Given the description of an element on the screen output the (x, y) to click on. 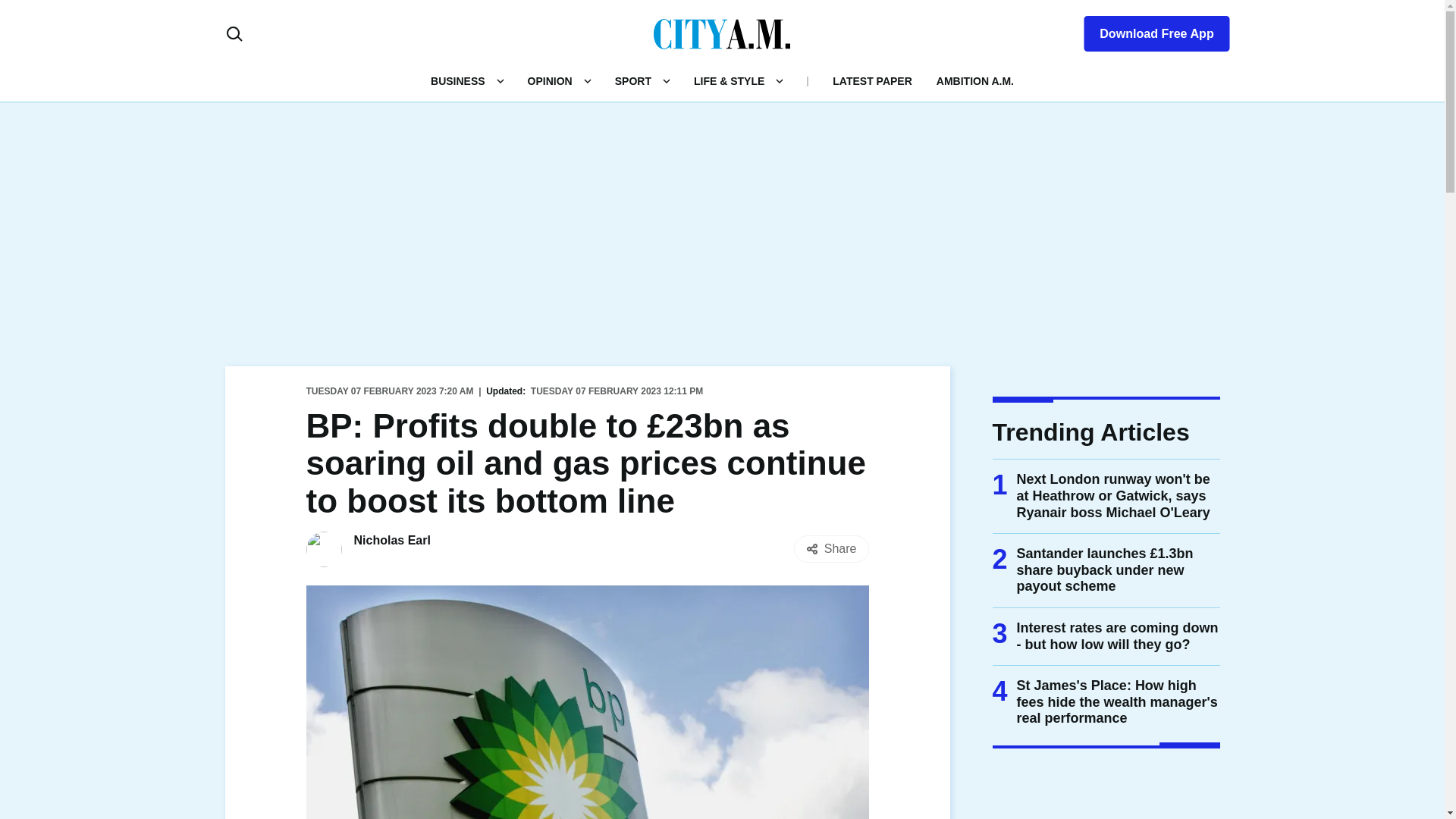
OPINION (549, 80)
Download Free App (1146, 30)
BUSINESS (457, 80)
SPORT (632, 80)
CityAM (721, 33)
